Given the description of an element on the screen output the (x, y) to click on. 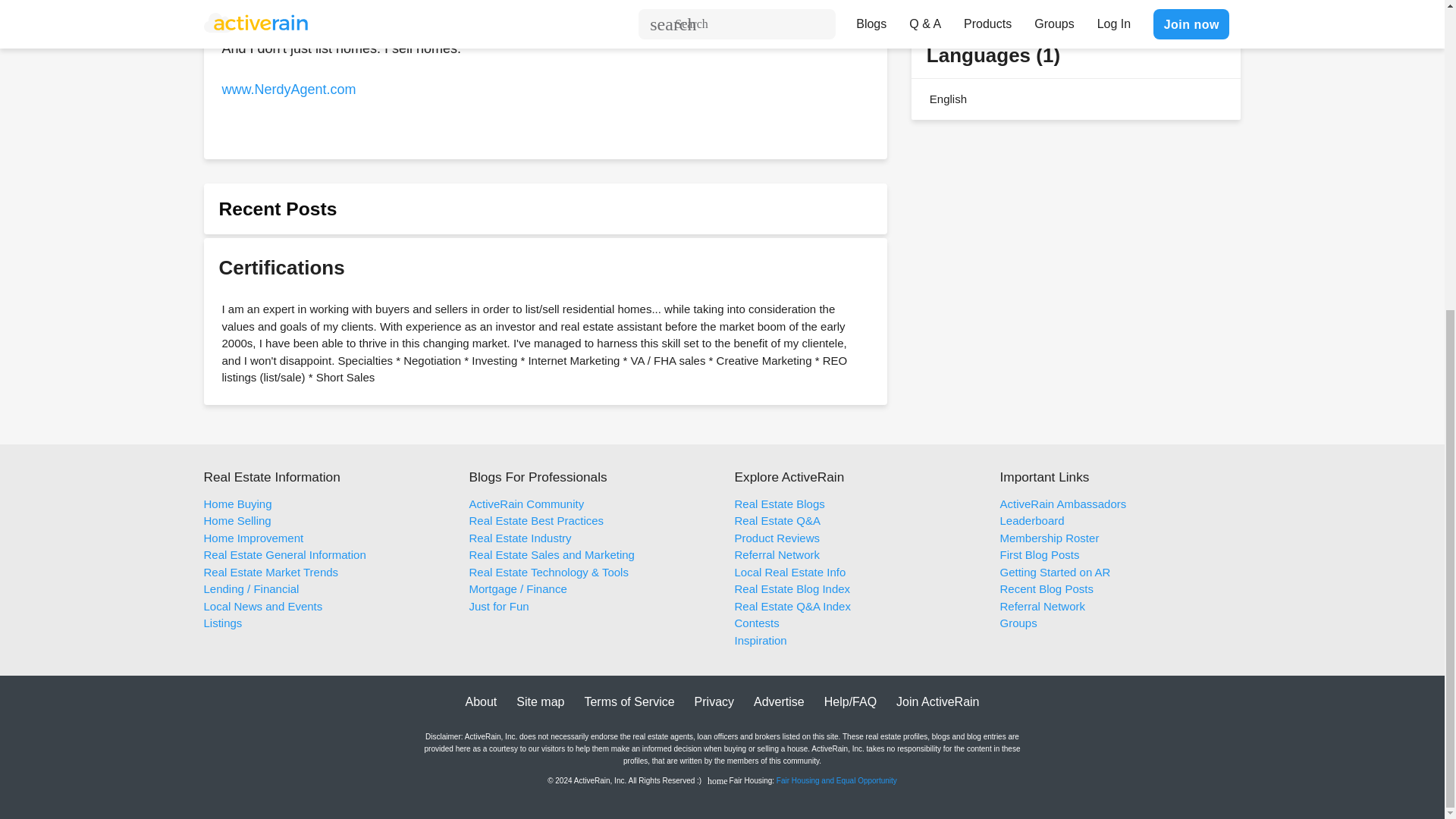
Real Estate Industry (519, 537)
www.NerdyAgent.com  (288, 89)
Local News and Events (262, 605)
Real Estate Best Practices (536, 520)
Listings (222, 622)
Just for Fun (498, 605)
Home Improvement (252, 537)
Home Buying (236, 503)
Real Estate Sales and Marketing (550, 554)
www.NerdyAgent.com (288, 89)
ActiveRain Community (525, 503)
Real Estate Market Trends (270, 571)
Home Selling (236, 520)
Real Estate General Information (284, 554)
Recent Posts (277, 209)
